Given the description of an element on the screen output the (x, y) to click on. 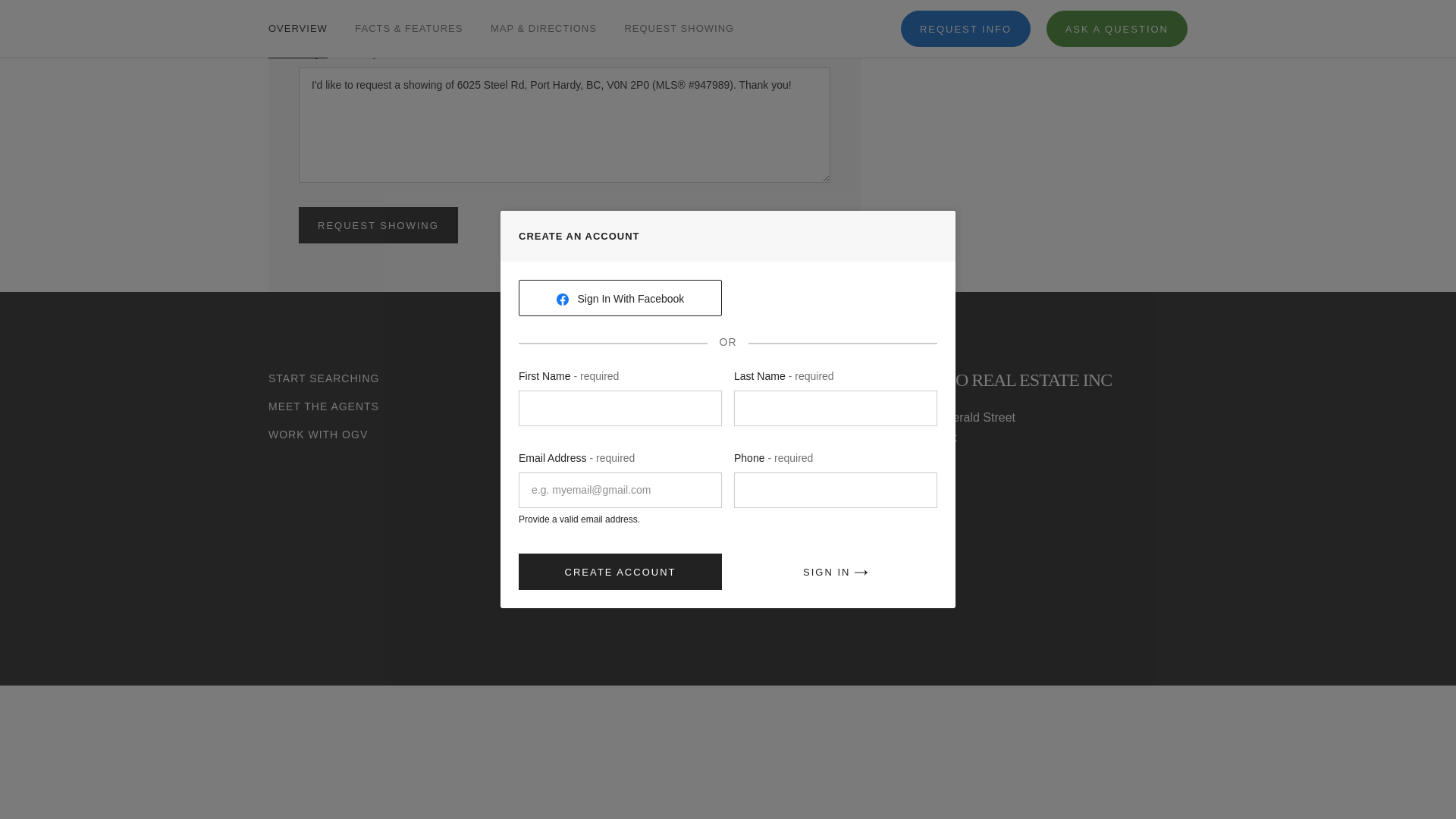
FACEBOOK (938, 553)
LINKEDIN (976, 553)
YOUTUBE (900, 553)
